Given the description of an element on the screen output the (x, y) to click on. 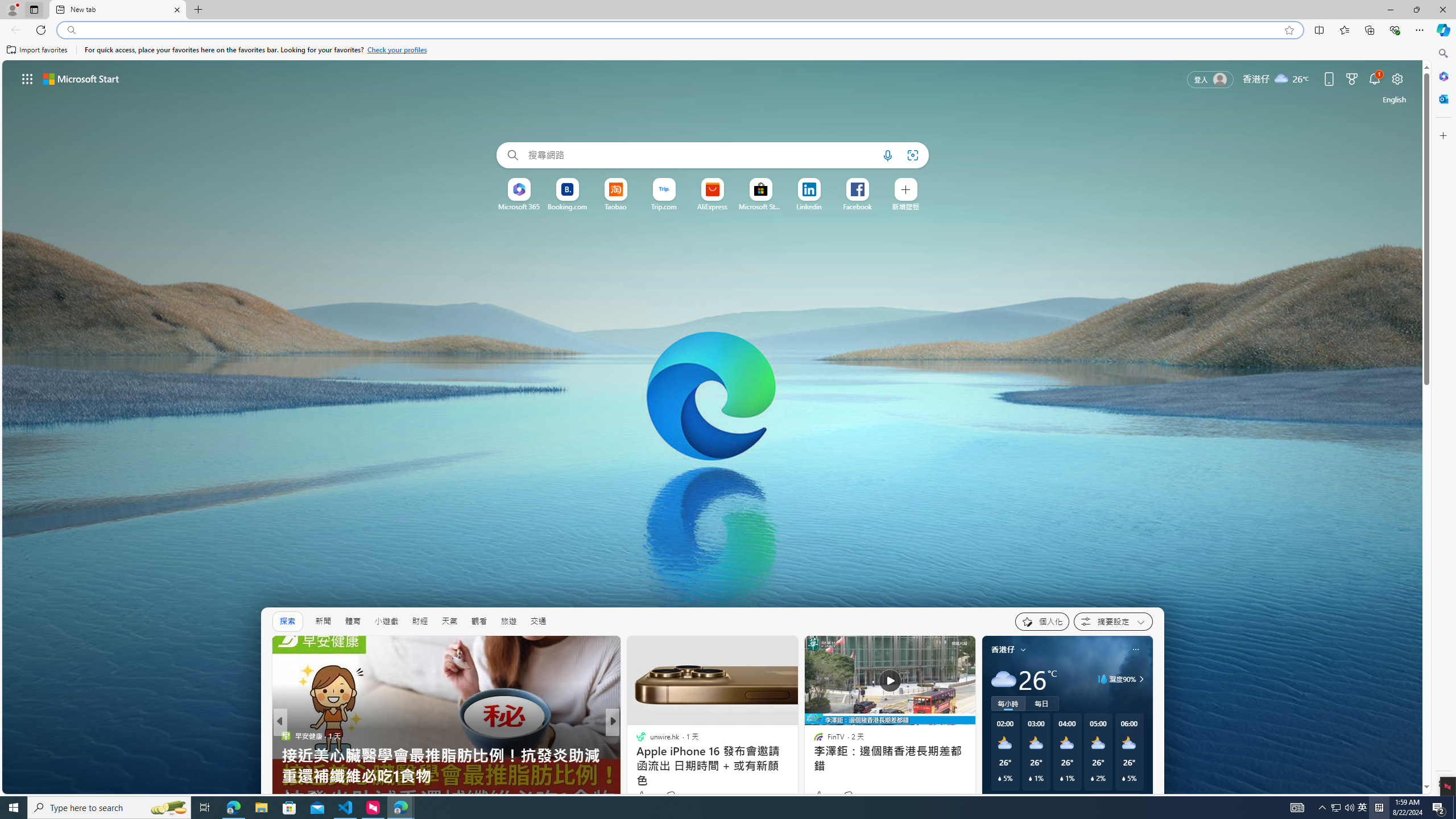
FiNET (635, 735)
Check your profiles (397, 49)
Microsoft Rewards (1351, 78)
ELLE HK (635, 735)
Booking.com (567, 206)
